Given the description of an element on the screen output the (x, y) to click on. 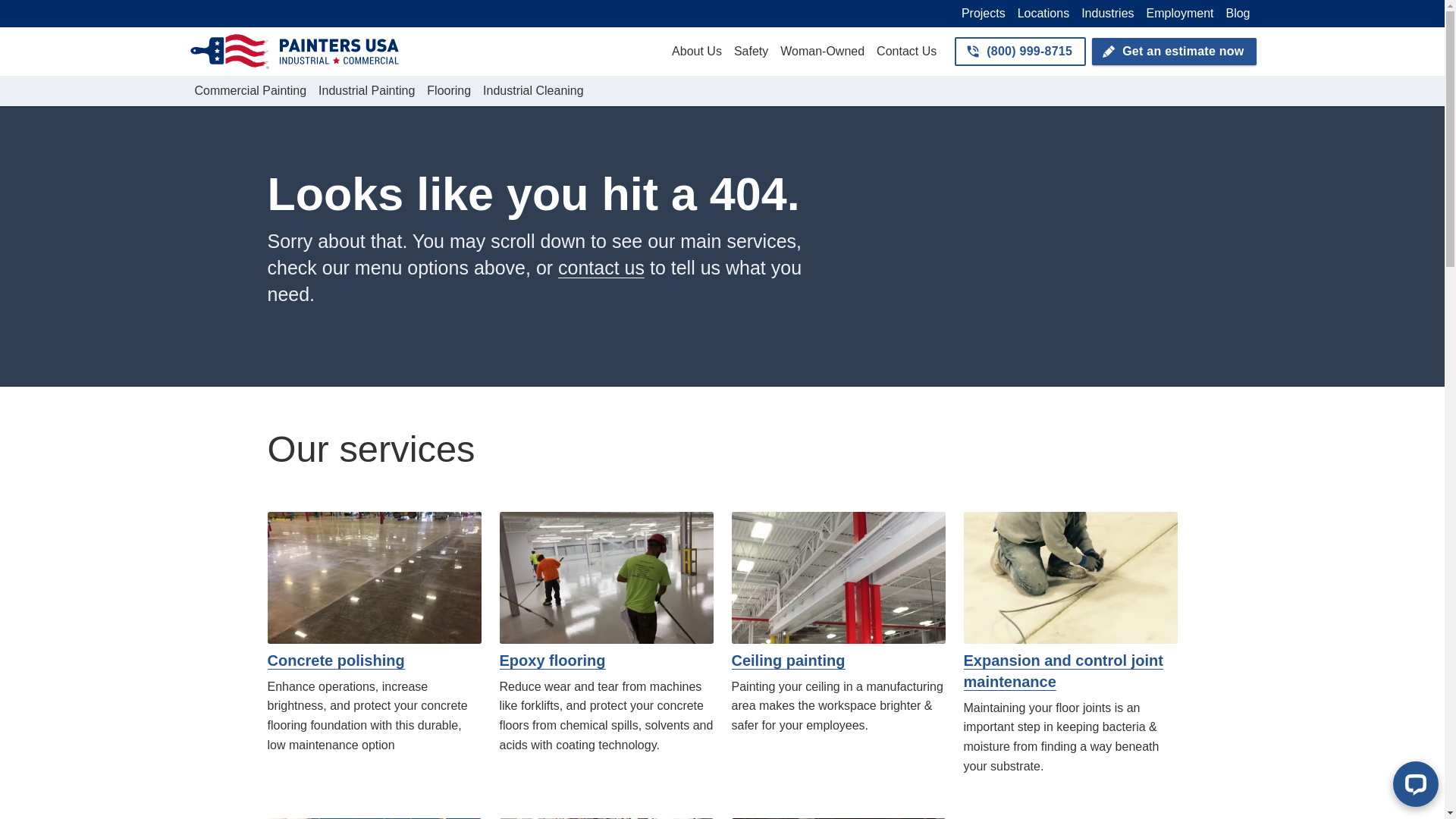
Woman-Owned (822, 51)
Industries (1107, 13)
Projects (983, 13)
Get an estimate now (1173, 51)
Industrial Painting (366, 90)
Blog (1237, 13)
Industrial Cleaning (533, 90)
Locations (1043, 13)
Flooring (448, 90)
Contact Us (906, 51)
